Given the description of an element on the screen output the (x, y) to click on. 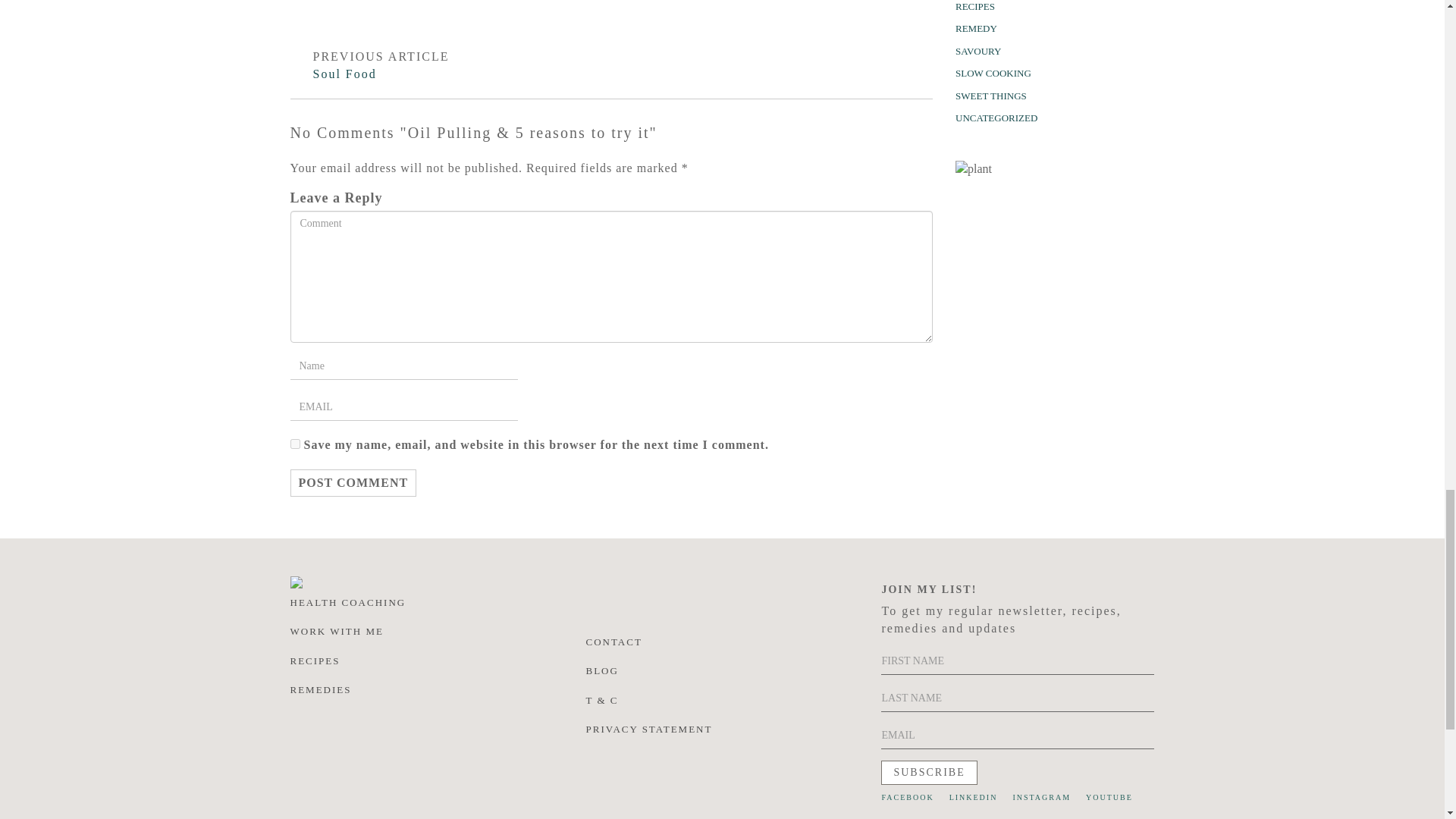
POST COMMENT (352, 482)
POST COMMENT (352, 482)
Soul Food (344, 73)
yes (294, 443)
